Given the description of an element on the screen output the (x, y) to click on. 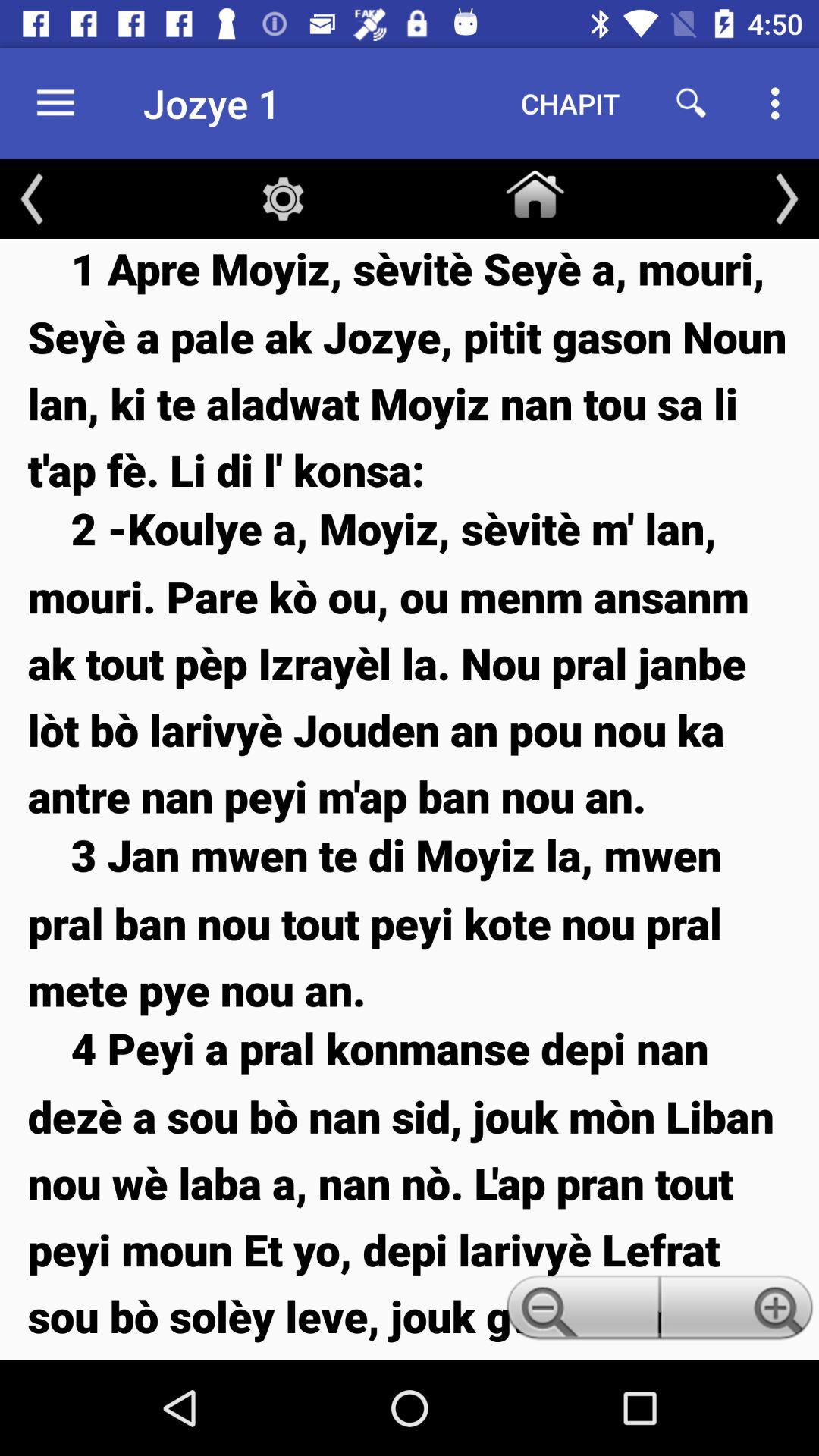
press the item next to the jozye 1 icon (570, 103)
